Given the description of an element on the screen output the (x, y) to click on. 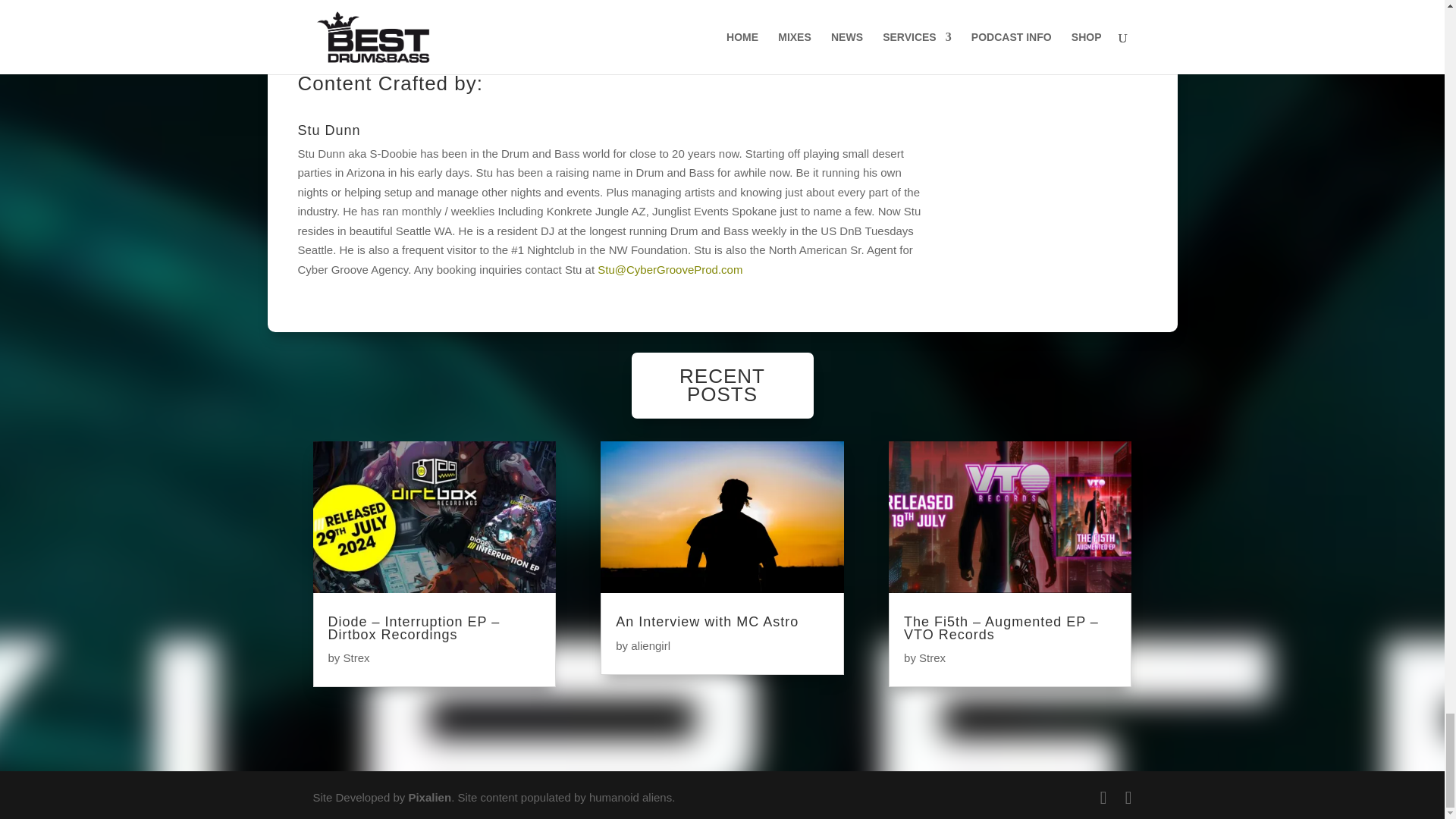
Stu Dunn (328, 130)
Strex (931, 657)
An Interview with MC Astro (706, 621)
Strex (356, 657)
Posts by Strex (931, 657)
Posts by Strex (356, 657)
Posts by aliengirl (649, 645)
aliengirl (649, 645)
